Given the description of an element on the screen output the (x, y) to click on. 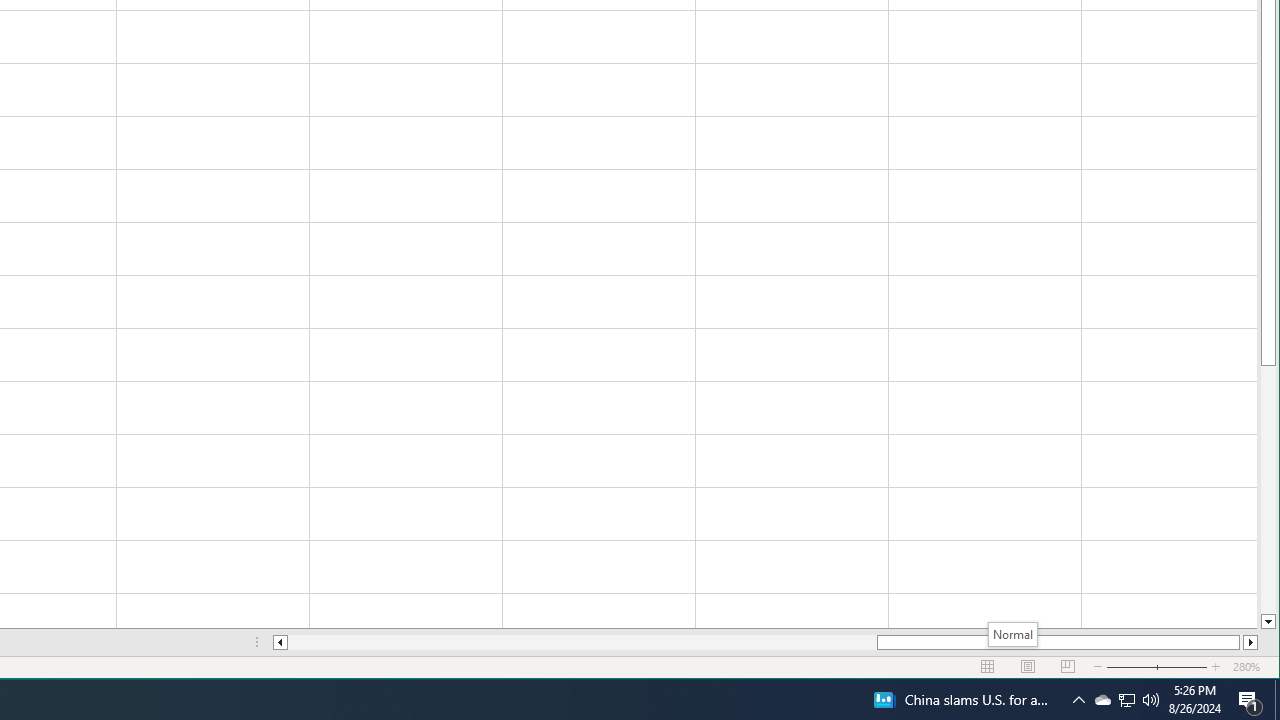
Q2790: 100% (1151, 699)
Show desktop (1126, 699)
Action Center, 1 new notification (1277, 699)
User Promoted Notification Area (1250, 699)
